Given the description of an element on the screen output the (x, y) to click on. 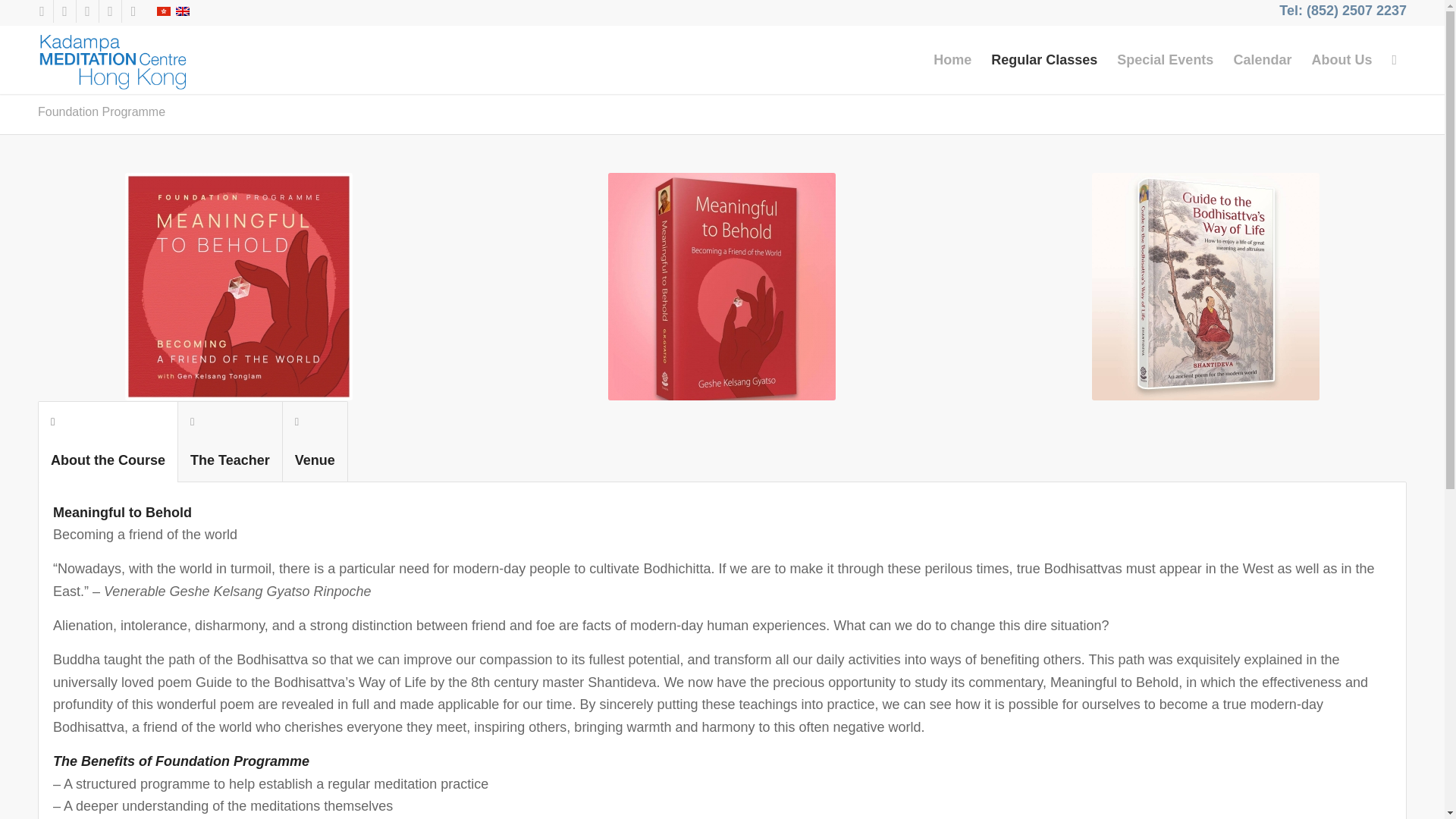
Calendar (1262, 59)
Instagram (109, 11)
About Us (1341, 59)
Regular Classes (1043, 59)
English (182, 10)
Meaningful to Behold (721, 286)
Facebook (41, 11)
Pinterest (88, 11)
Permanent Link: Foundation Programme (101, 111)
Special Events (1164, 59)
Guide to the Bodhisattva's Way of Life (1205, 286)
Foundation Programme (101, 111)
Twitter (64, 11)
Mail (133, 11)
